Given the description of an element on the screen output the (x, y) to click on. 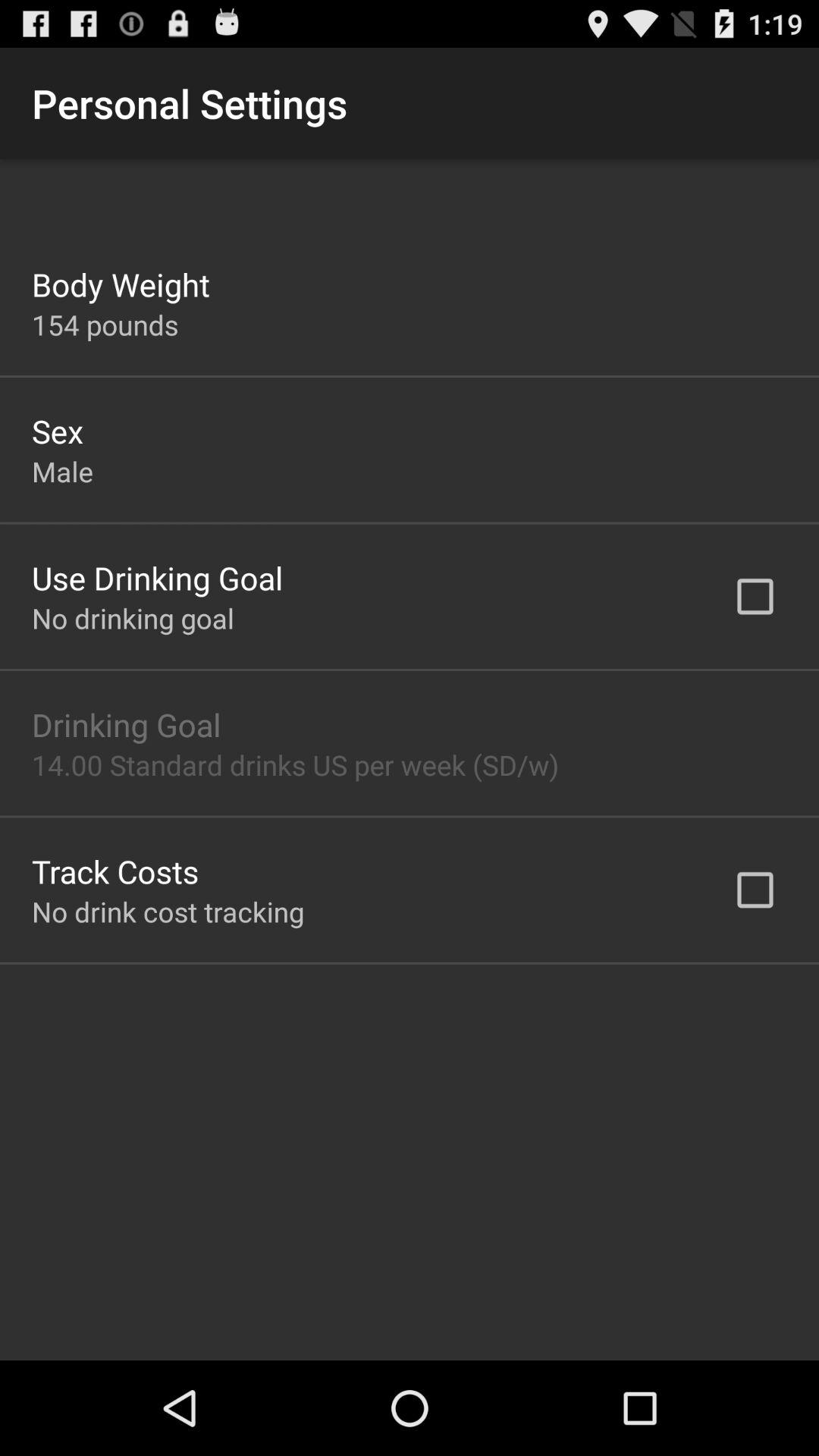
click the app below the body weight app (104, 324)
